Given the description of an element on the screen output the (x, y) to click on. 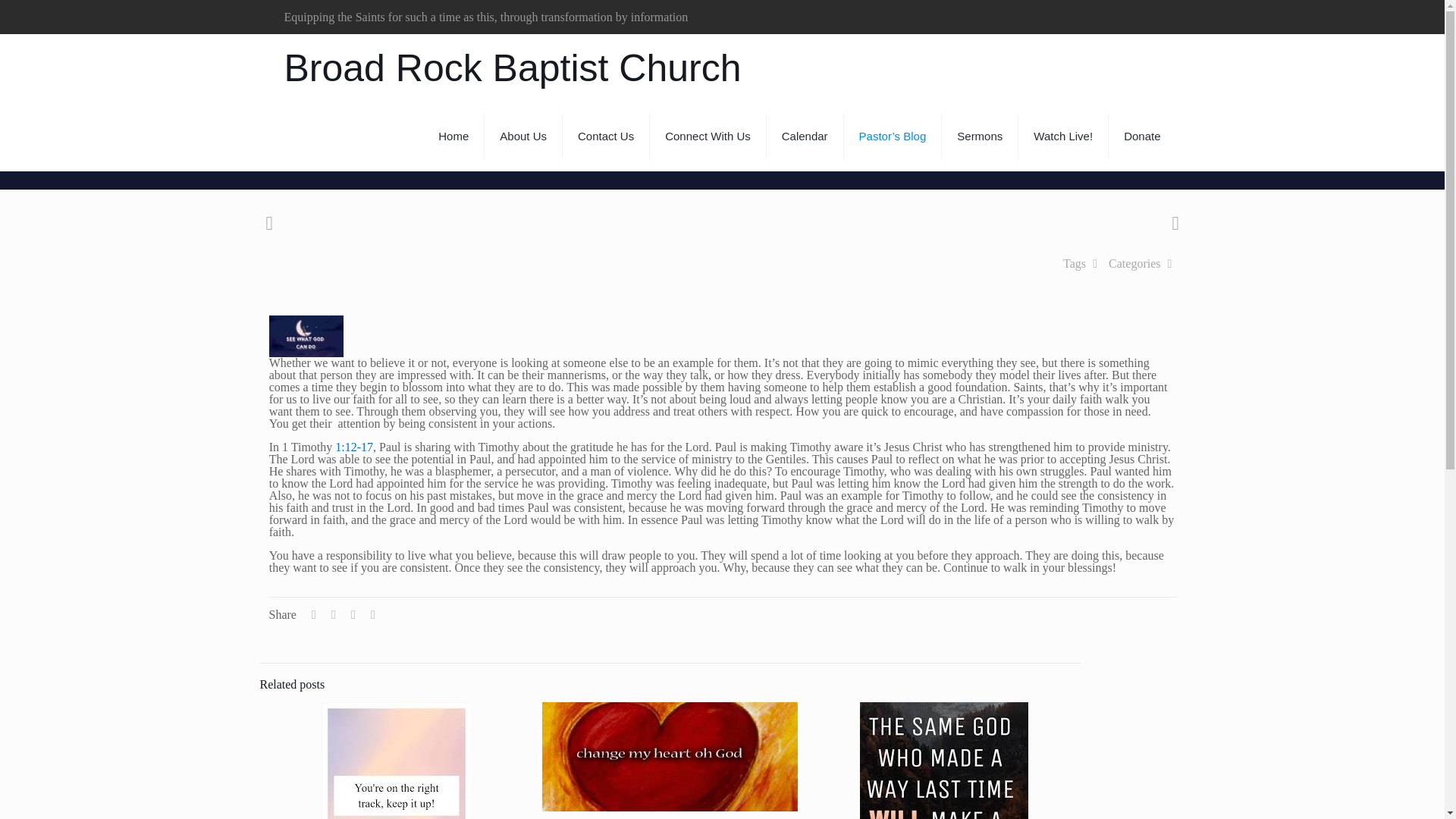
About Us (523, 136)
Home (453, 136)
Connect With Us (708, 136)
Broad Rock Baptist Church (512, 68)
1:12-17 (353, 446)
Sermons (979, 136)
Broad Rock Baptist Church (512, 68)
Watch Live! (1062, 136)
Calendar (805, 136)
Donate (1141, 136)
